Given the description of an element on the screen output the (x, y) to click on. 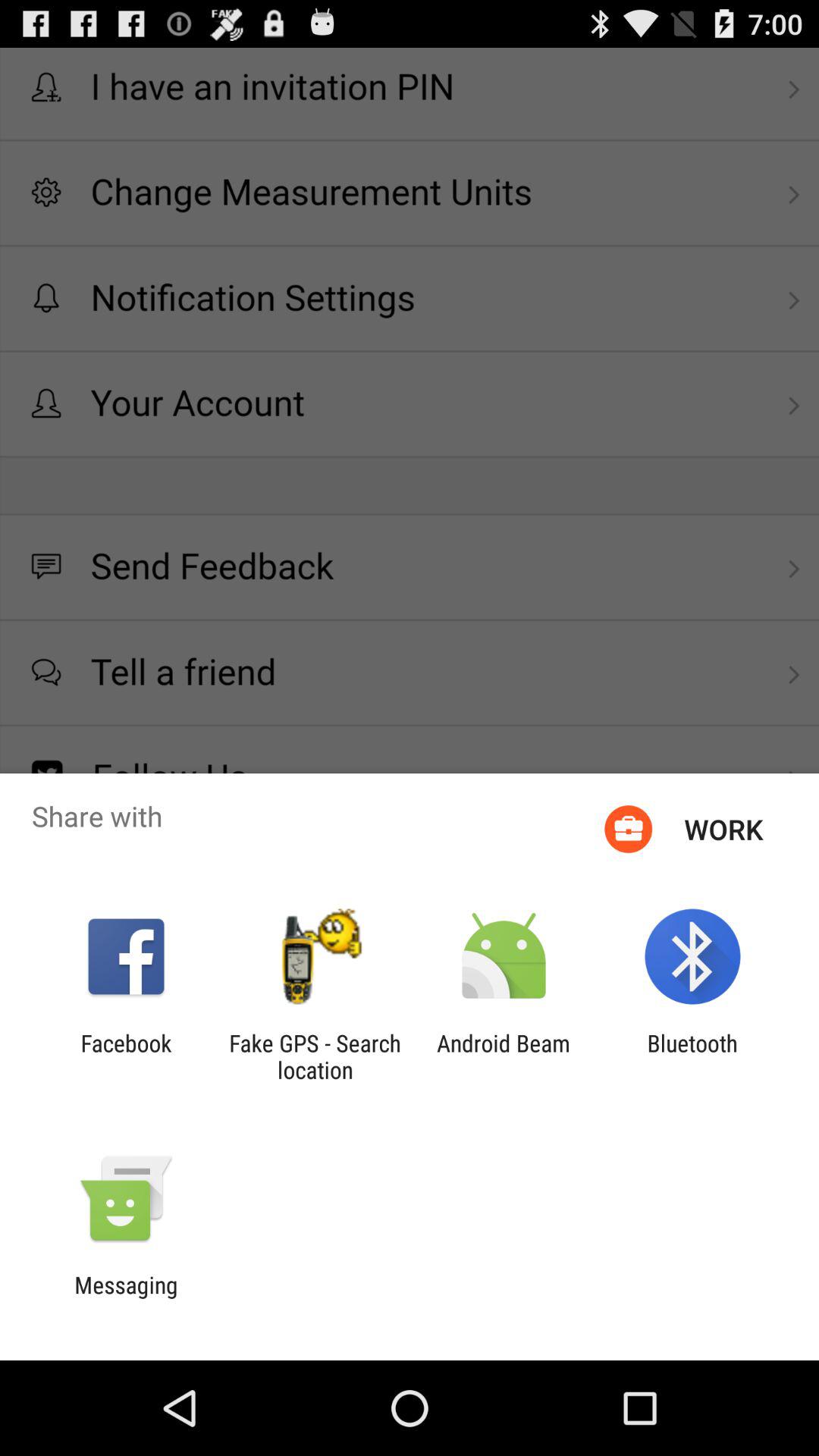
jump to the android beam item (503, 1056)
